Given the description of an element on the screen output the (x, y) to click on. 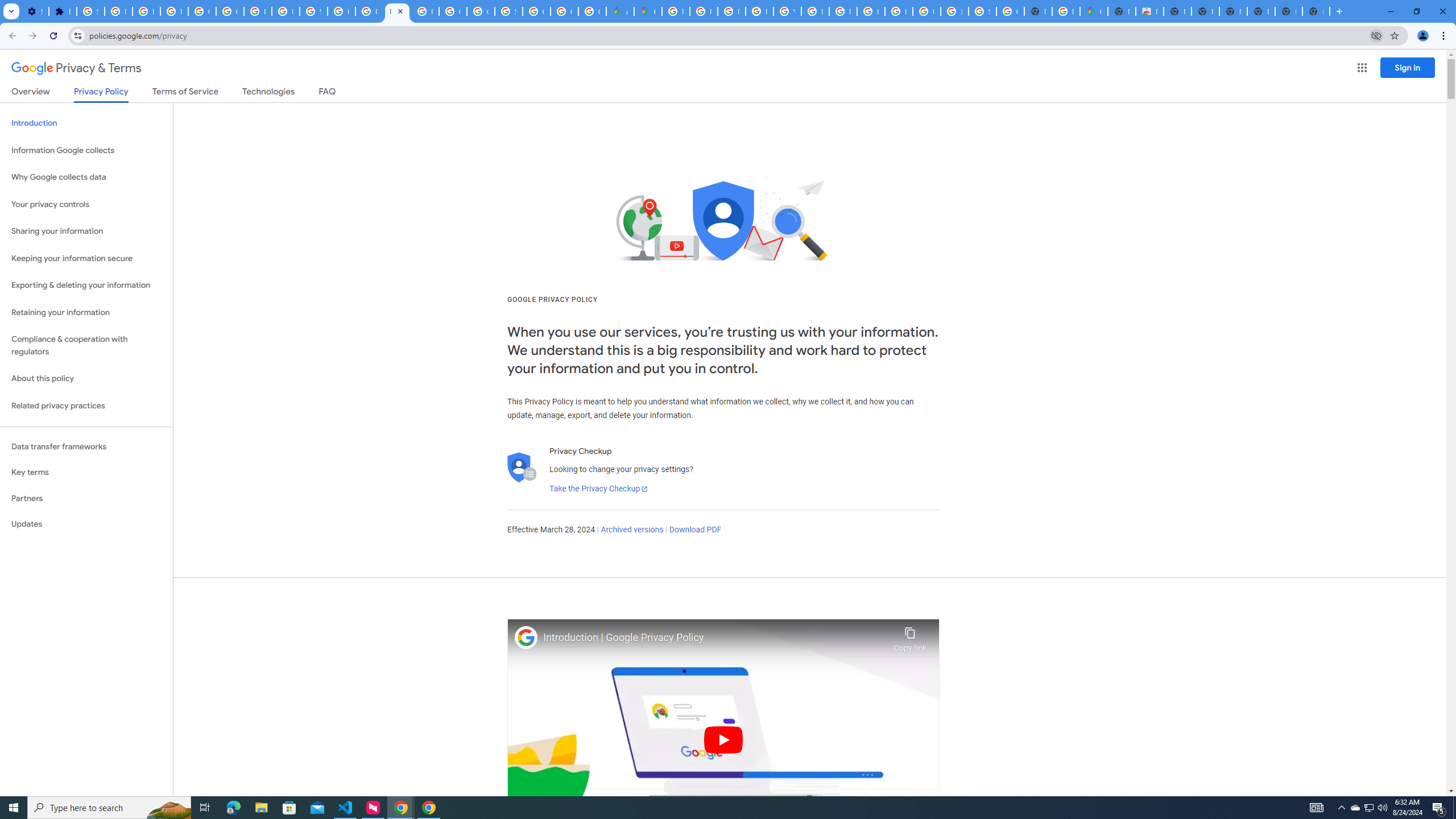
Extensions (62, 11)
Privacy Help Center - Policies Help (731, 11)
Privacy Help Center - Policies Help (703, 11)
Sign in - Google Accounts (90, 11)
Introduction | Google Privacy Policy (715, 637)
Learn how to find your photos - Google Photos Help (146, 11)
Keeping your information secure (86, 258)
Related privacy practices (86, 405)
YouTube (787, 11)
Privacy Policy (100, 94)
